Given the description of an element on the screen output the (x, y) to click on. 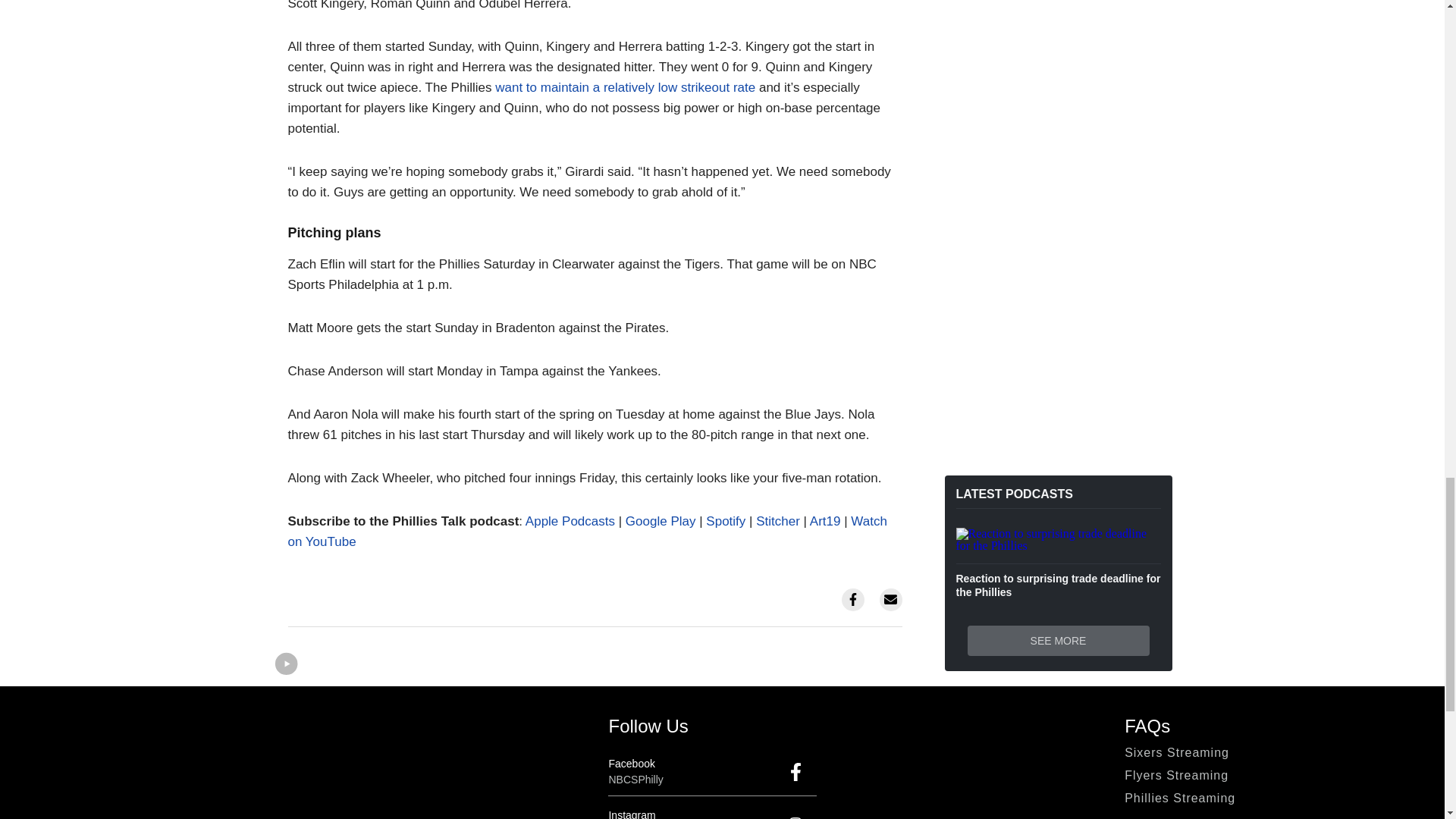
Watch on YouTube (587, 531)
Stitcher (777, 521)
Spotify (725, 521)
Apple Podcasts (569, 521)
want to maintain a relatively low strikeout rate (625, 87)
Google Play (660, 521)
Art19 (825, 521)
